Given the description of an element on the screen output the (x, y) to click on. 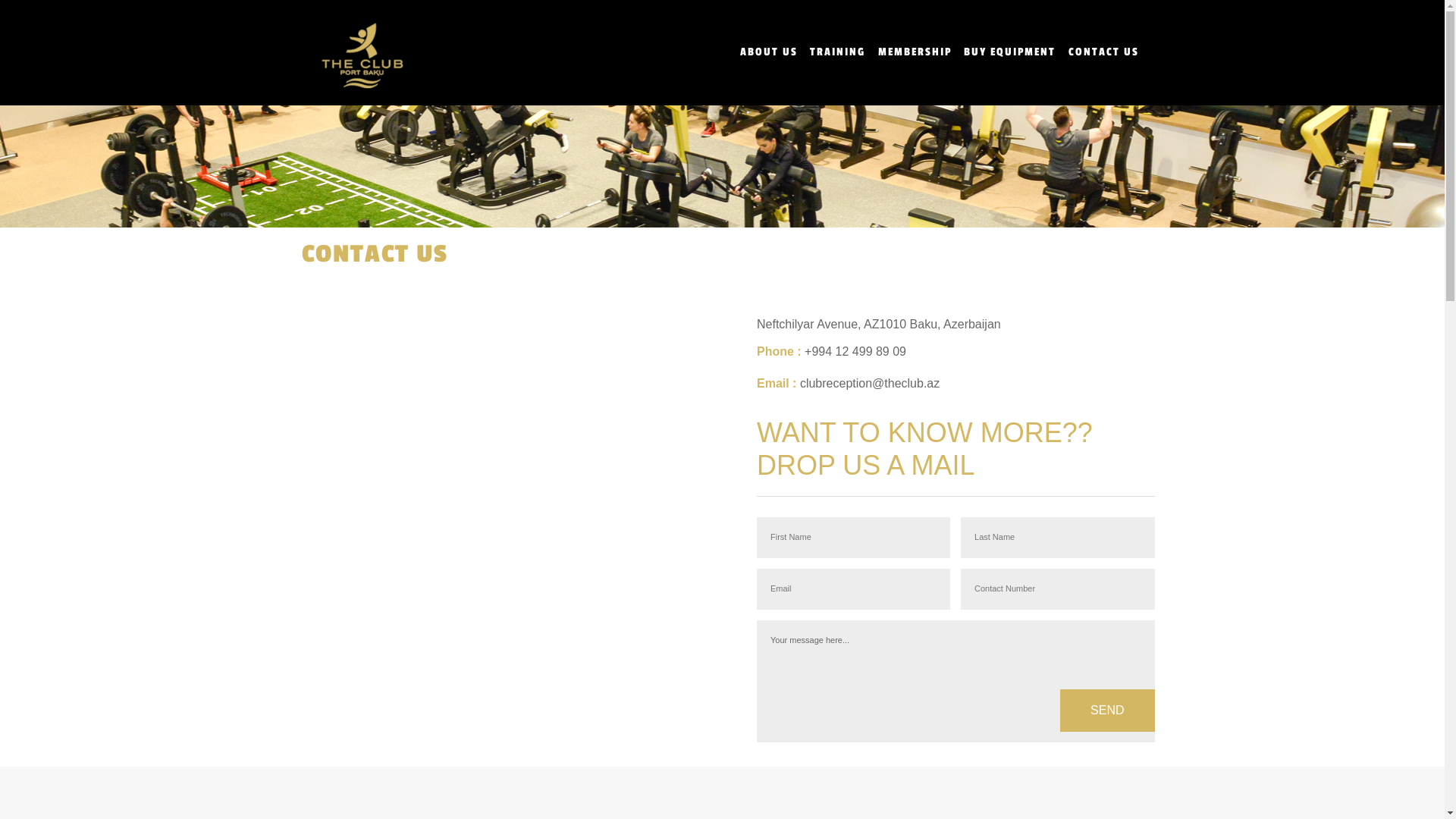
Skip to main menu Element type: text (50, 9)
MEMBERSHIP Element type: text (914, 51)
Skip to content Element type: text (40, 9)
CONTACT US Element type: text (374, 253)
TRAINING Element type: text (837, 51)
BUY EQUIPMENT Element type: text (1009, 51)
CONTACT US Element type: text (1102, 51)
ABOUT US Element type: text (768, 51)
Send Element type: text (1107, 710)
The Club Element type: hover (362, 53)
